Given the description of an element on the screen output the (x, y) to click on. 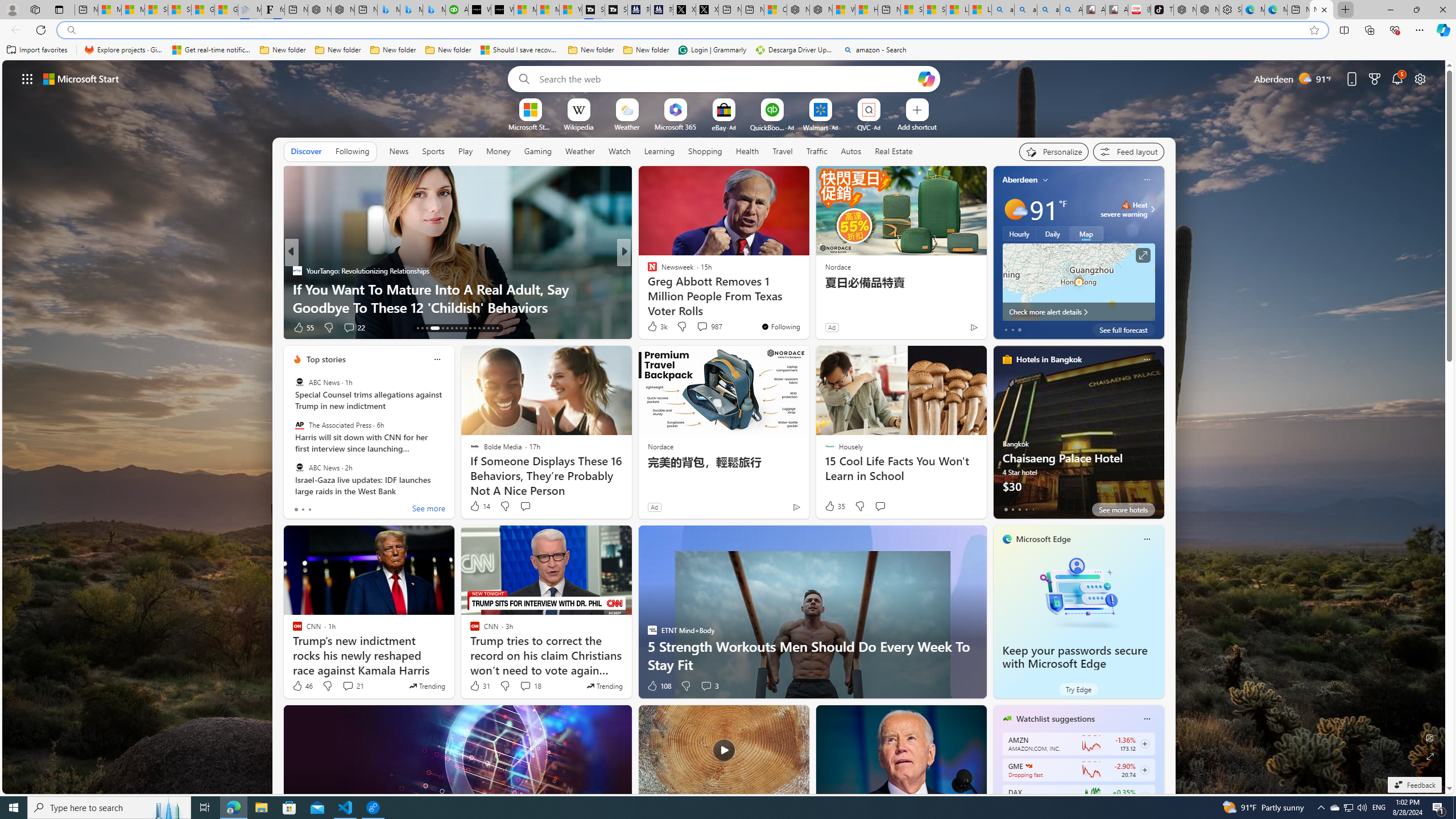
Sports (432, 151)
Heat - Severe (1126, 204)
Interesting Engineering (647, 270)
Gilma and Hector both pose tropical trouble for Hawaii (226, 9)
Search icon (70, 29)
See more hotels (1123, 509)
AutomationID: tab-27 (488, 328)
Streaming Coverage | T3 (593, 9)
